Given the description of an element on the screen output the (x, y) to click on. 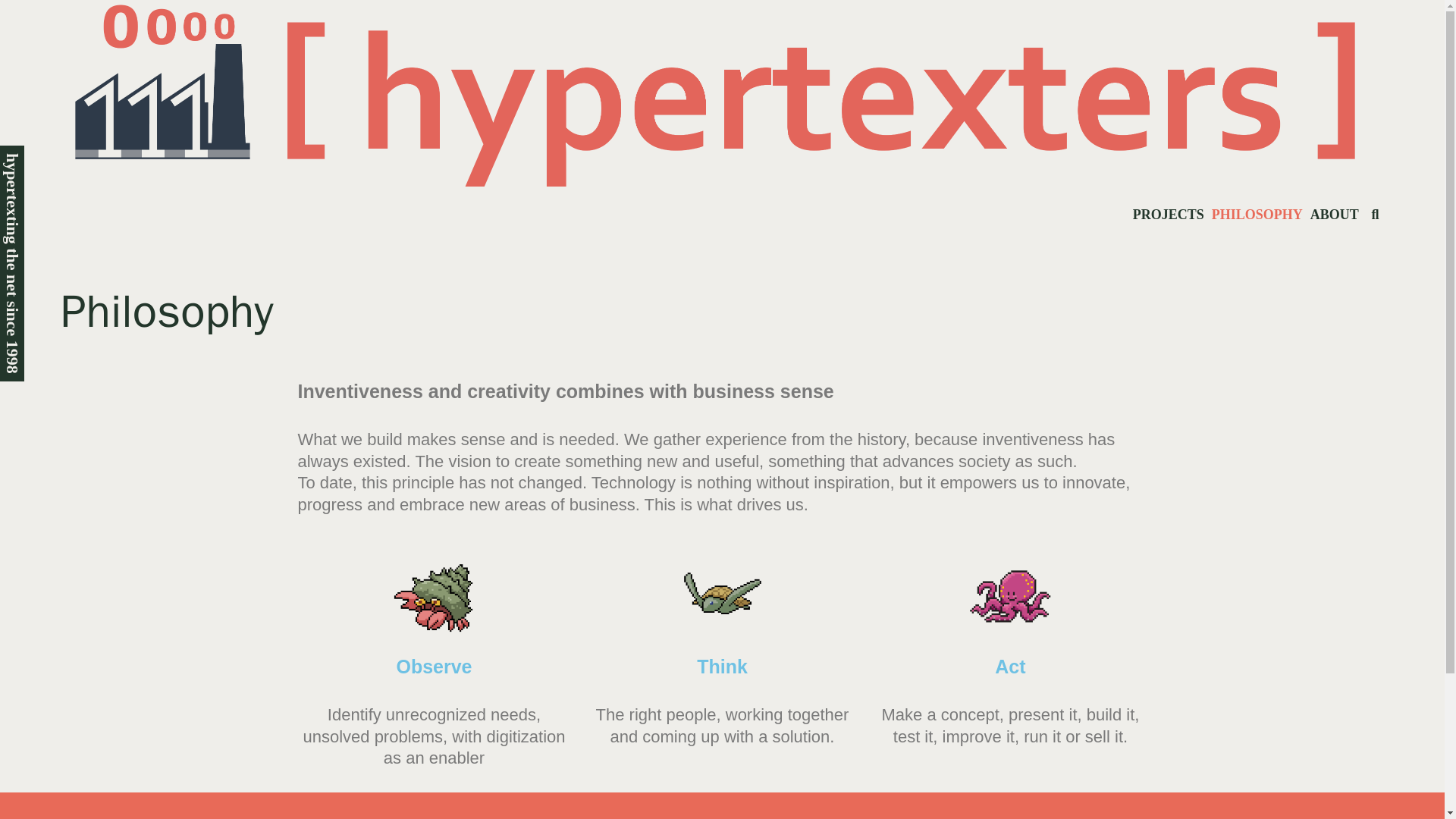
hypertexters.com (724, 93)
ABOUT (1334, 214)
SEARCH (1374, 214)
PROJECTS (1168, 214)
Search (129, 25)
PHILOSOPHY (1257, 214)
Search (1374, 214)
